Given the description of an element on the screen output the (x, y) to click on. 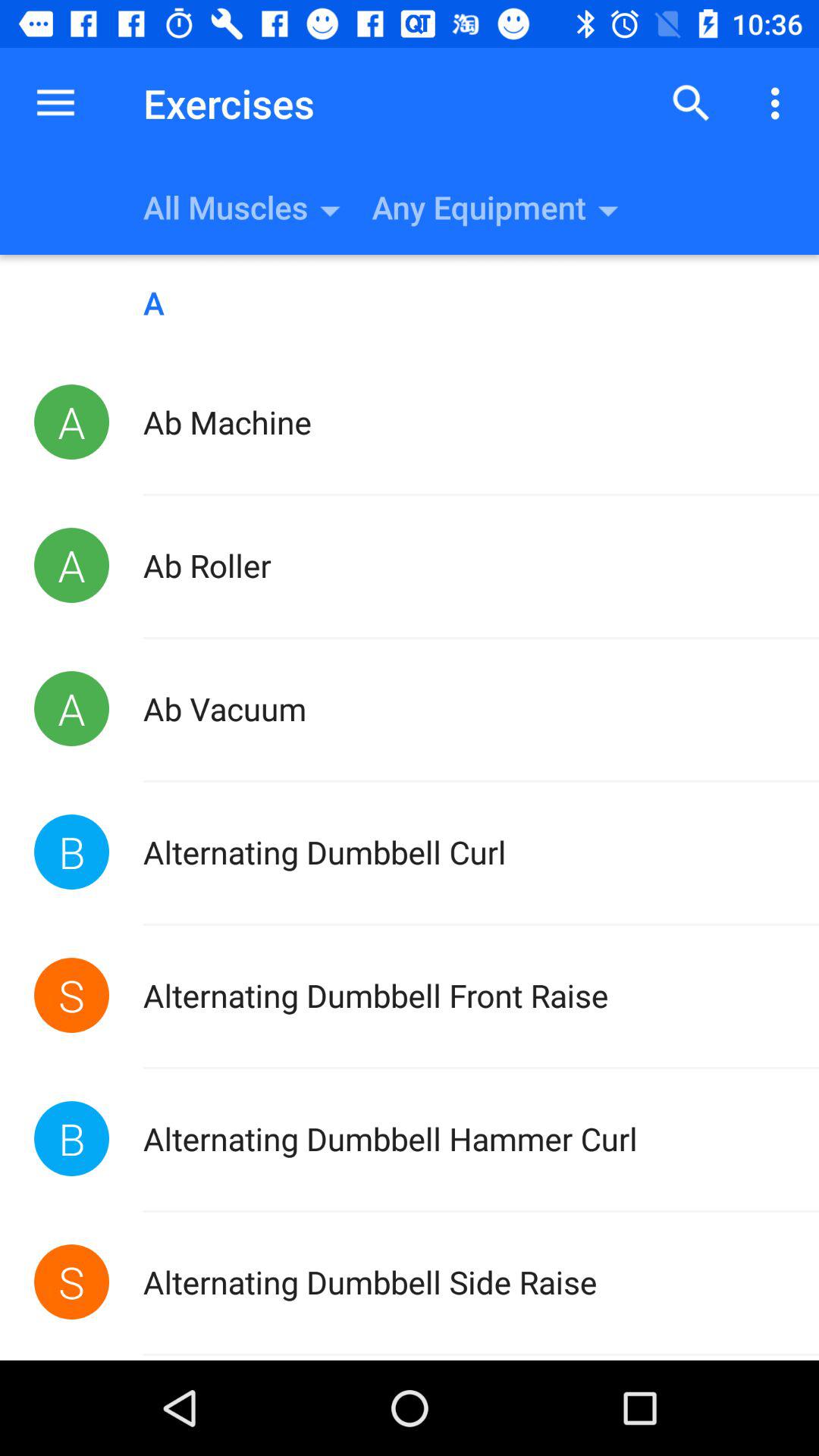
launch icon above a item (55, 103)
